Given the description of an element on the screen output the (x, y) to click on. 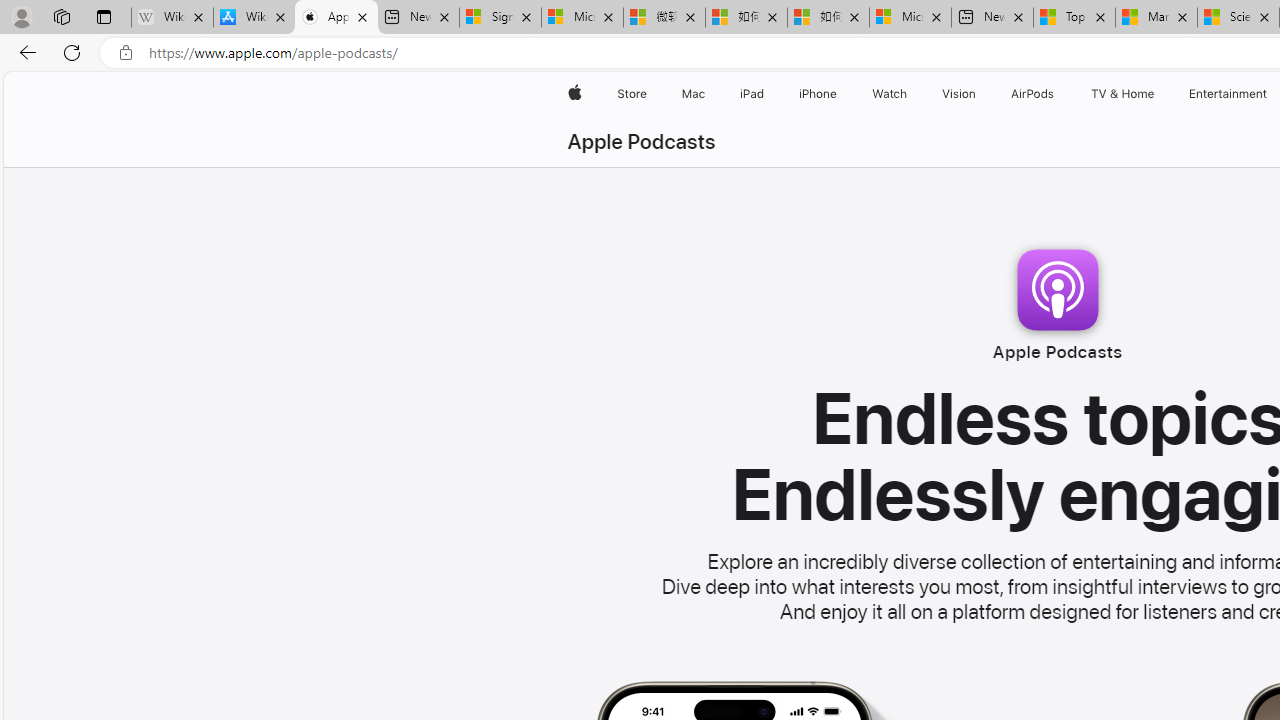
Microsoft Services Agreement (582, 17)
Watch (890, 93)
Entertainment (1227, 93)
Microsoft account | Account Checkup (910, 17)
Apple Podcasts (641, 142)
iPhone (818, 93)
AirPods menu (1058, 93)
Apple (574, 93)
AirPods (1032, 93)
iPad (750, 93)
Store menu (649, 93)
